Given the description of an element on the screen output the (x, y) to click on. 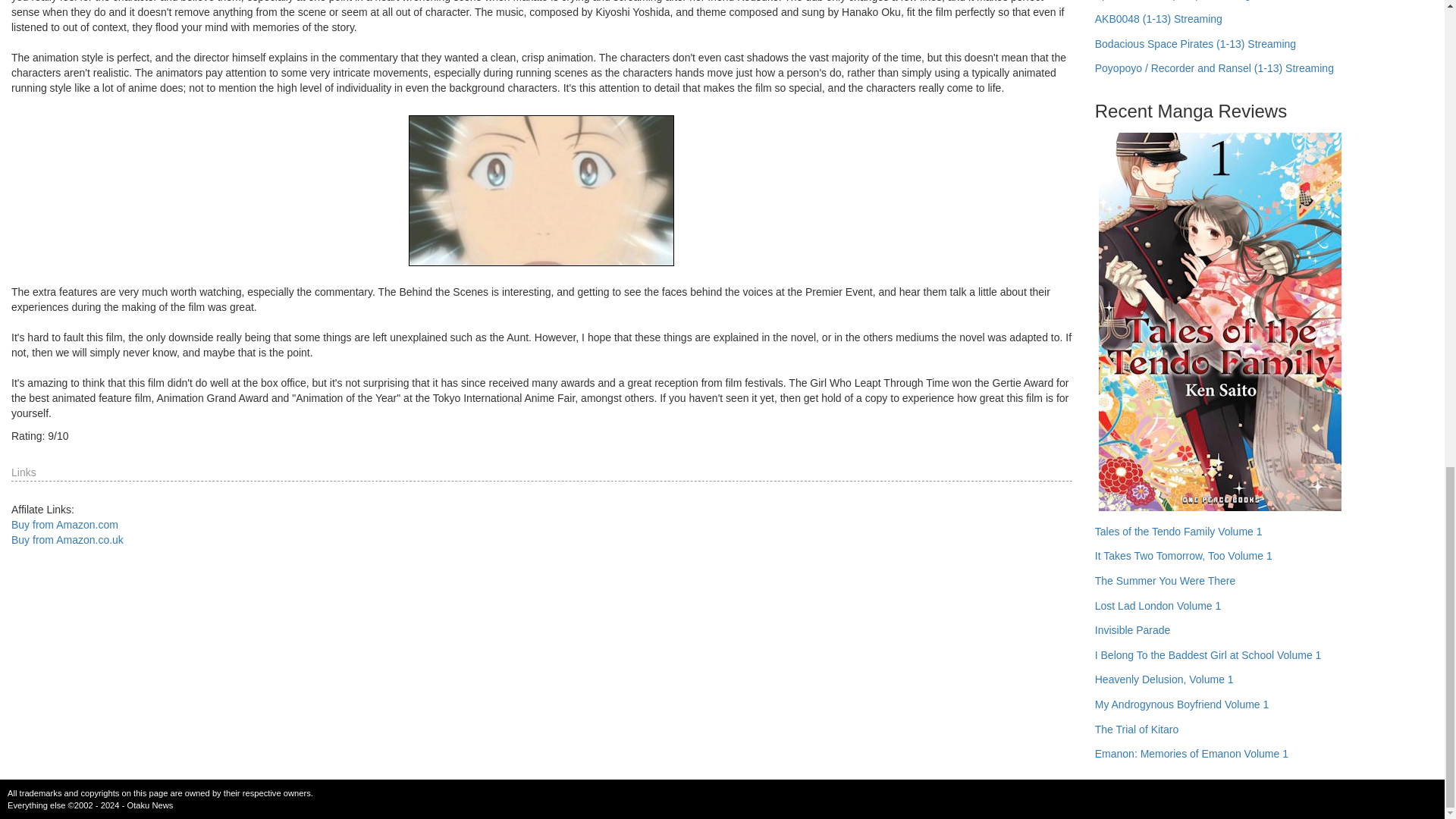
Buy from Amazon.co.uk (67, 539)
Buy from Amazon.com (64, 524)
